Given the description of an element on the screen output the (x, y) to click on. 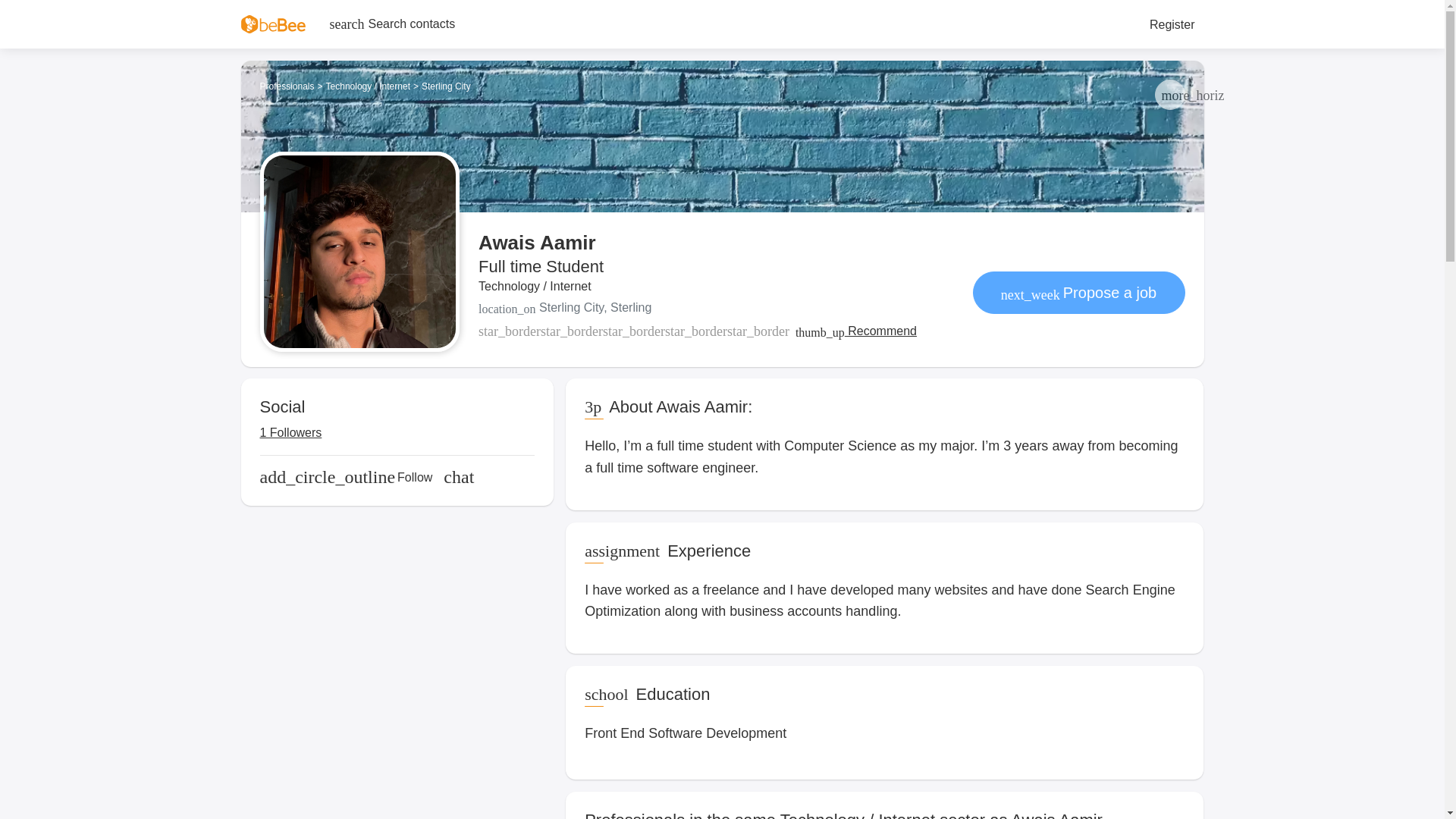
Recommend (855, 331)
Professionals (286, 86)
Propose a job (1078, 292)
1 Followers (291, 433)
Follow (345, 477)
Sterling City, Sterling (698, 307)
Register (1172, 24)
Search contacts (392, 24)
